Given the description of an element on the screen output the (x, y) to click on. 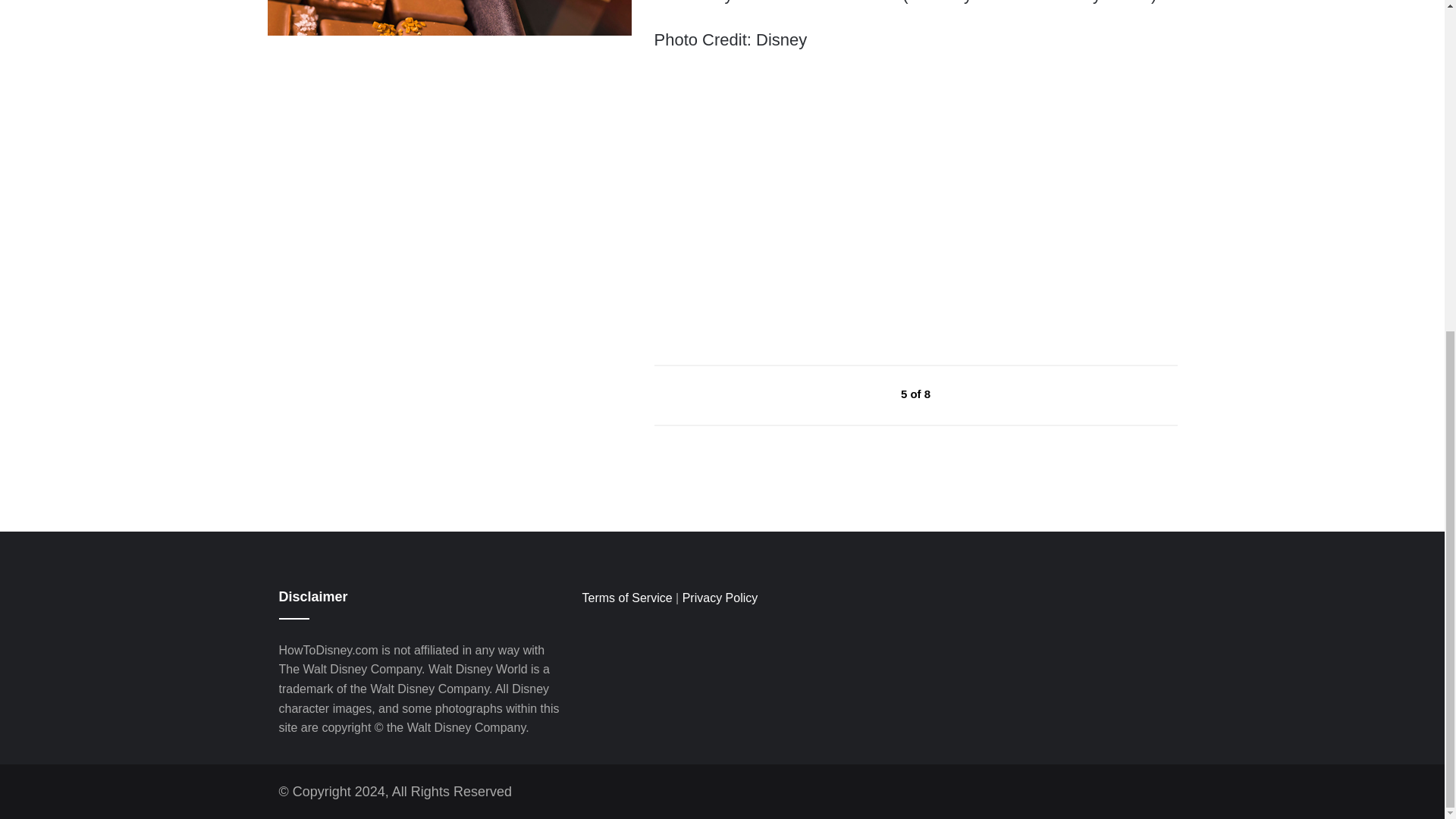
Privacy Policy (720, 597)
right (966, 394)
Terms of Service (625, 597)
Left (866, 394)
